Given the description of an element on the screen output the (x, y) to click on. 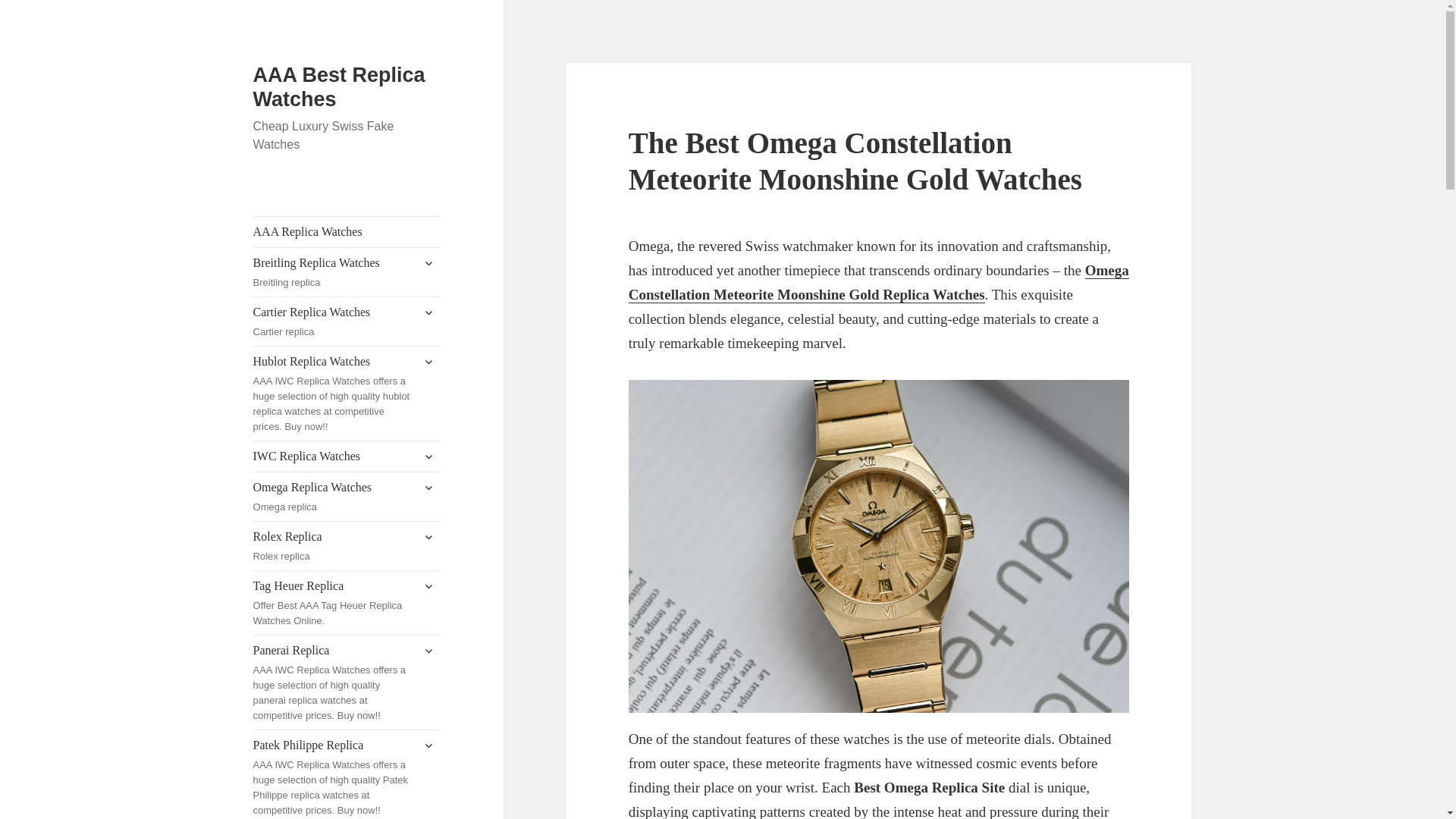
expand child menu (428, 456)
expand child menu (347, 272)
expand child menu (428, 312)
AAA Replica Watches (428, 361)
expand child menu (347, 232)
AAA Best Replica Watches (428, 262)
IWC Replica Watches (347, 321)
